Given the description of an element on the screen output the (x, y) to click on. 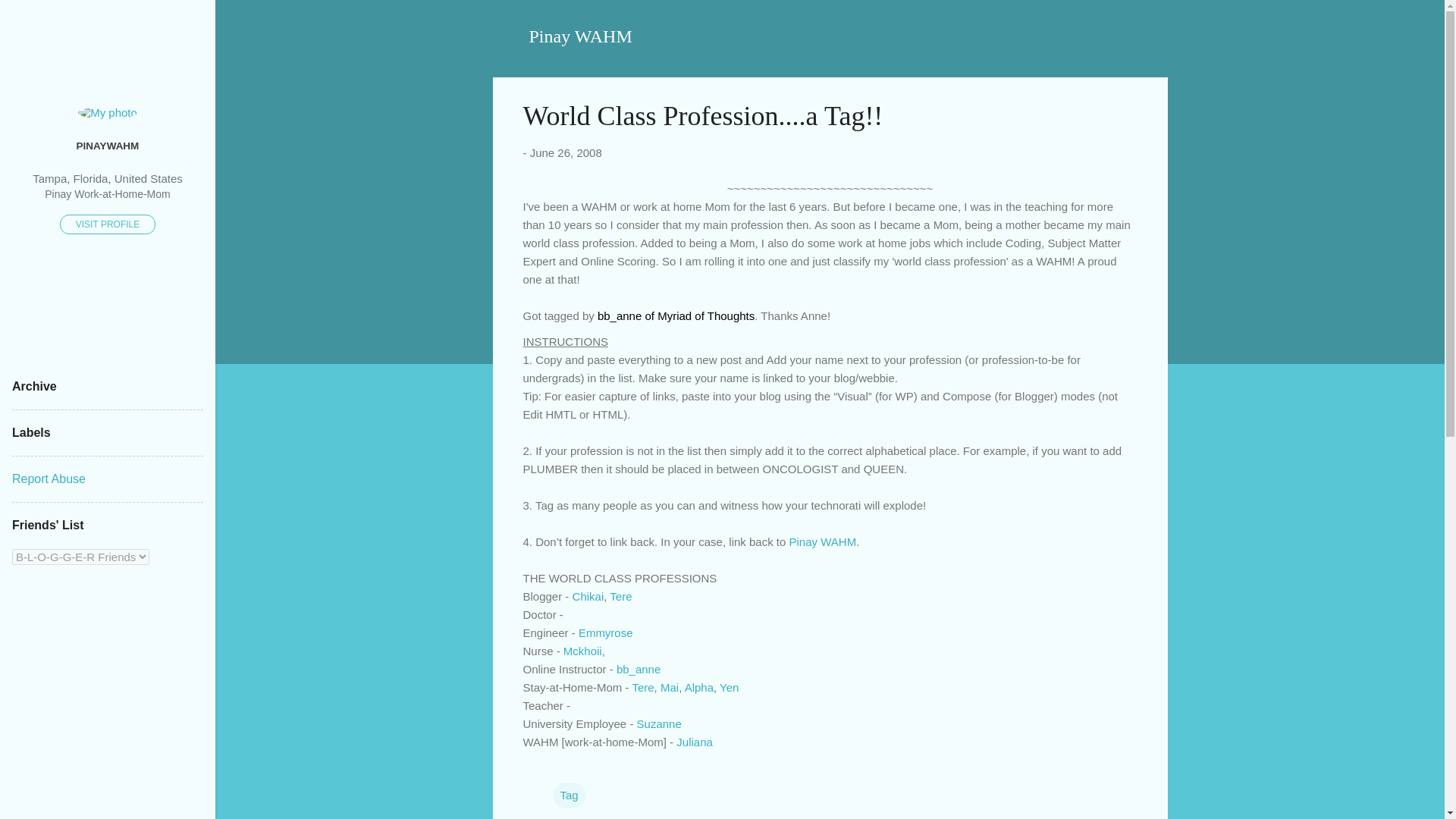
Alpha (698, 686)
Tere (620, 595)
Juliana (692, 741)
Pinay WAHM (580, 35)
Mai (669, 686)
Suzanne (659, 723)
Yen (728, 686)
permanent link (565, 152)
Mckhoii (582, 650)
Emmyrose (605, 632)
